Given the description of an element on the screen output the (x, y) to click on. 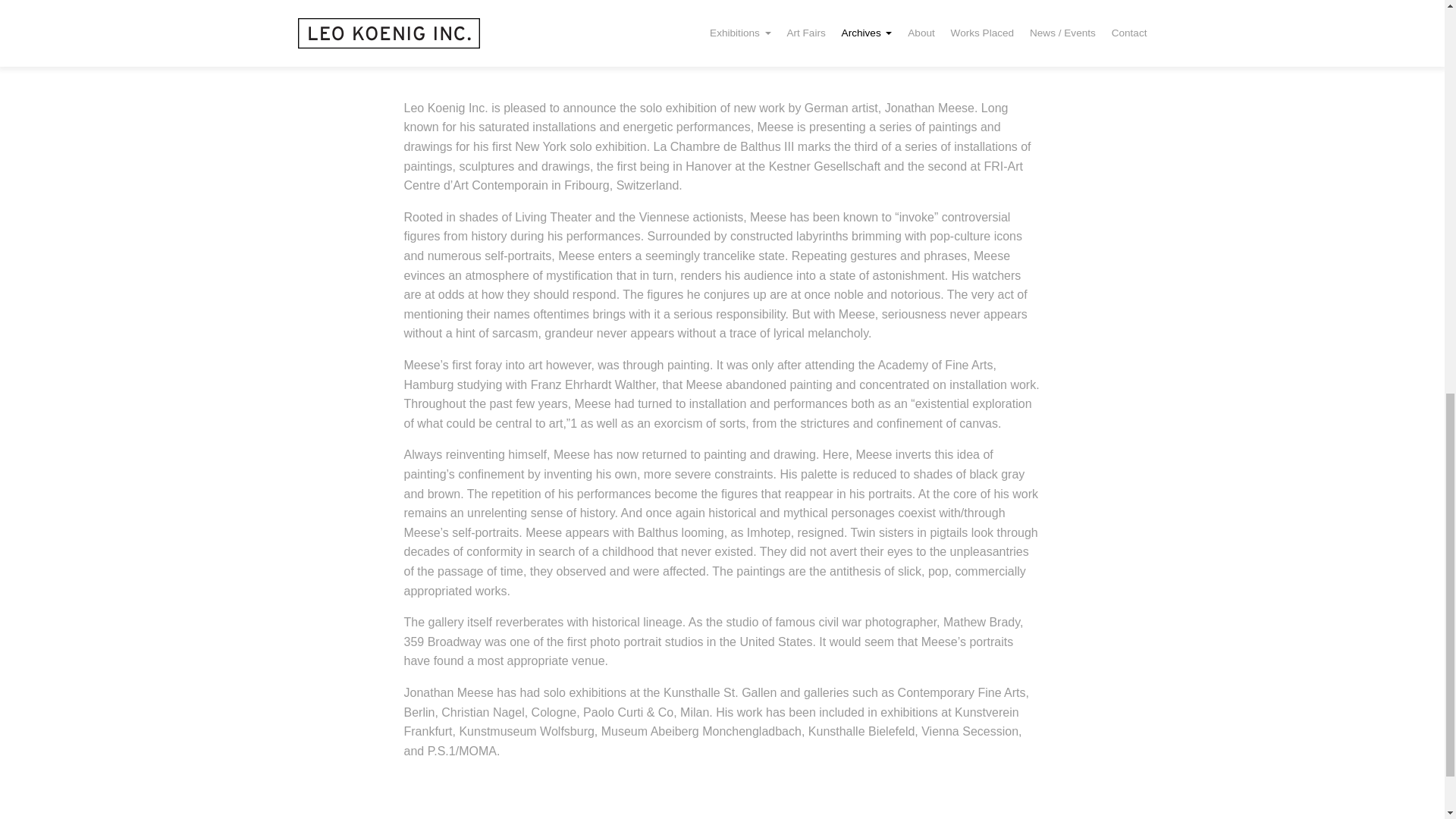
Download PDF (1000, 62)
